Given the description of an element on the screen output the (x, y) to click on. 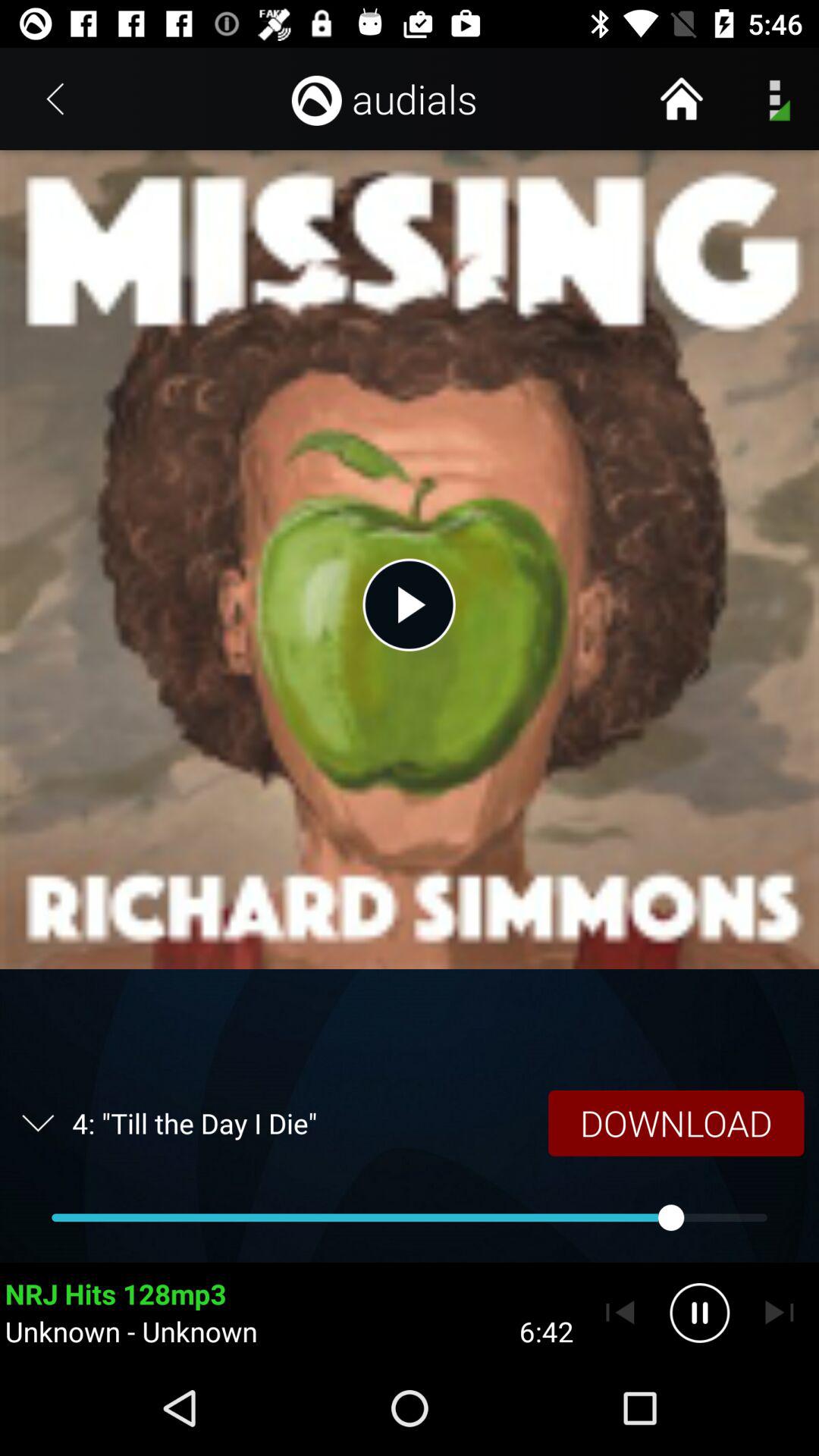
press to play (408, 604)
